Given the description of an element on the screen output the (x, y) to click on. 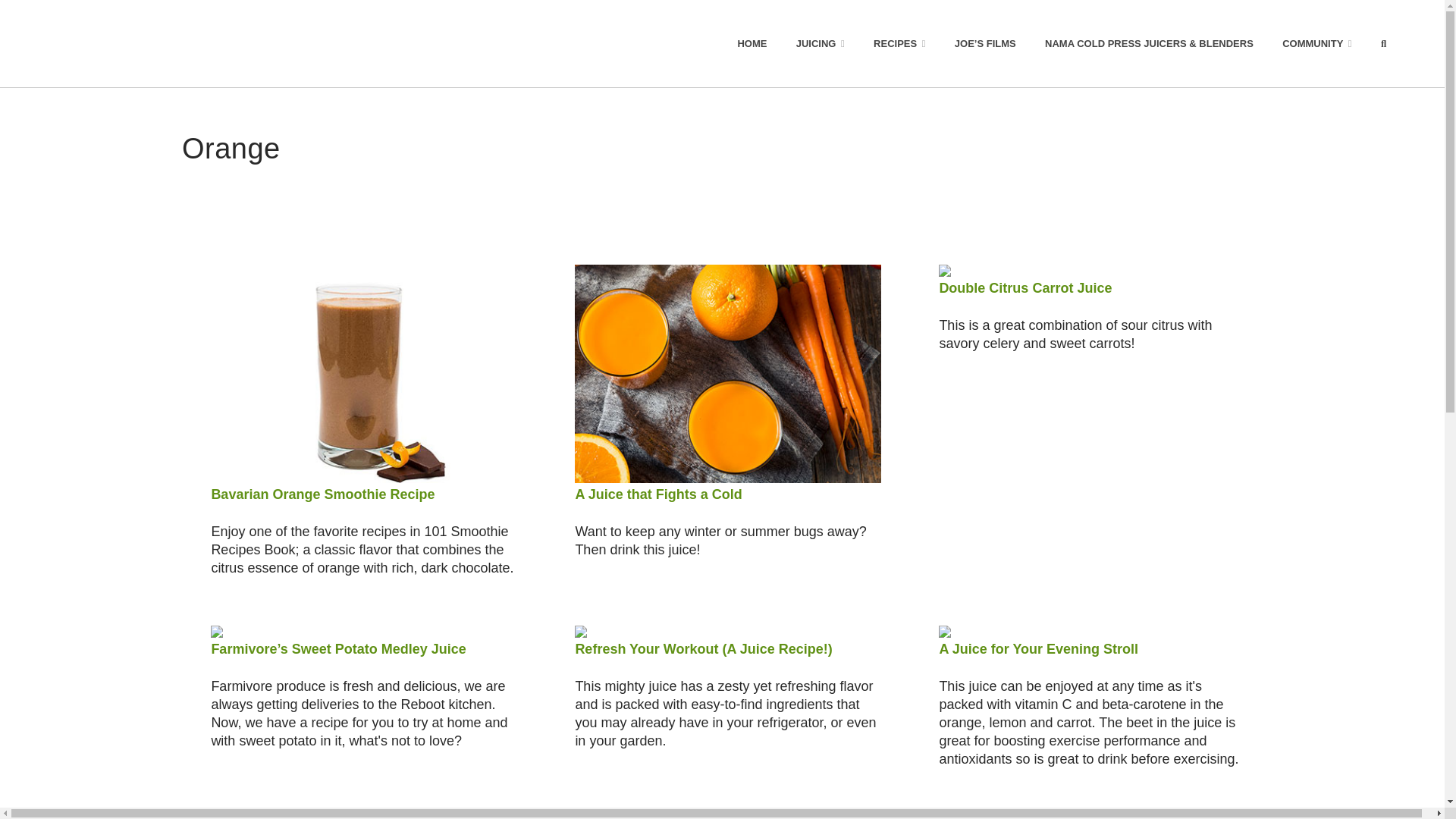
Joe Cross (131, 43)
RECIPES (899, 43)
COMMUNITY (1317, 43)
Bavarian Orange Smoothie Recipe (322, 494)
